Given the description of an element on the screen output the (x, y) to click on. 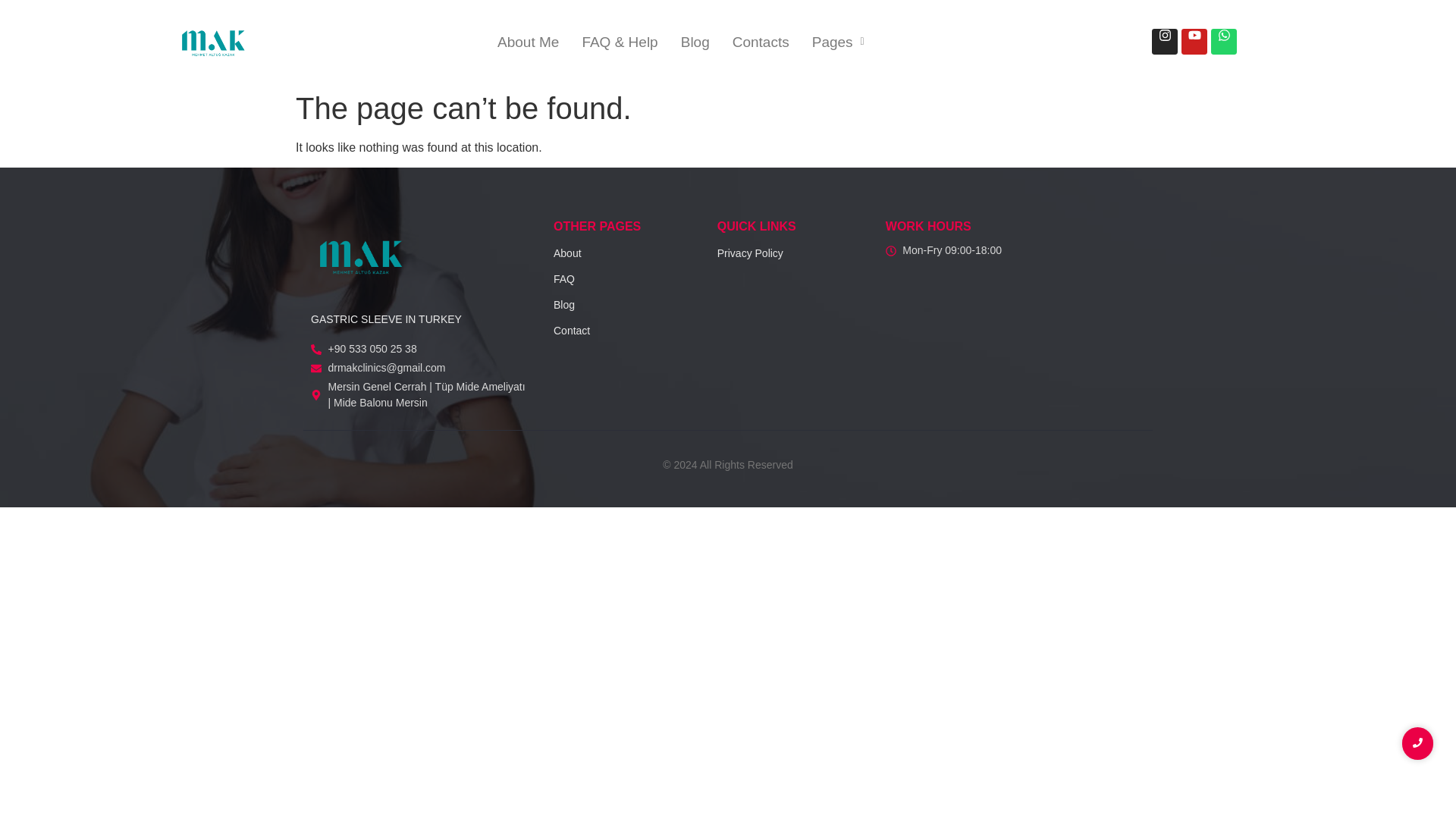
Blog (694, 41)
Contacts (760, 41)
About (566, 253)
About Me (528, 41)
Pages (838, 41)
Privacy Policy (750, 253)
Blog (564, 304)
FAQ (564, 278)
Contact (571, 330)
